Given the description of an element on the screen output the (x, y) to click on. 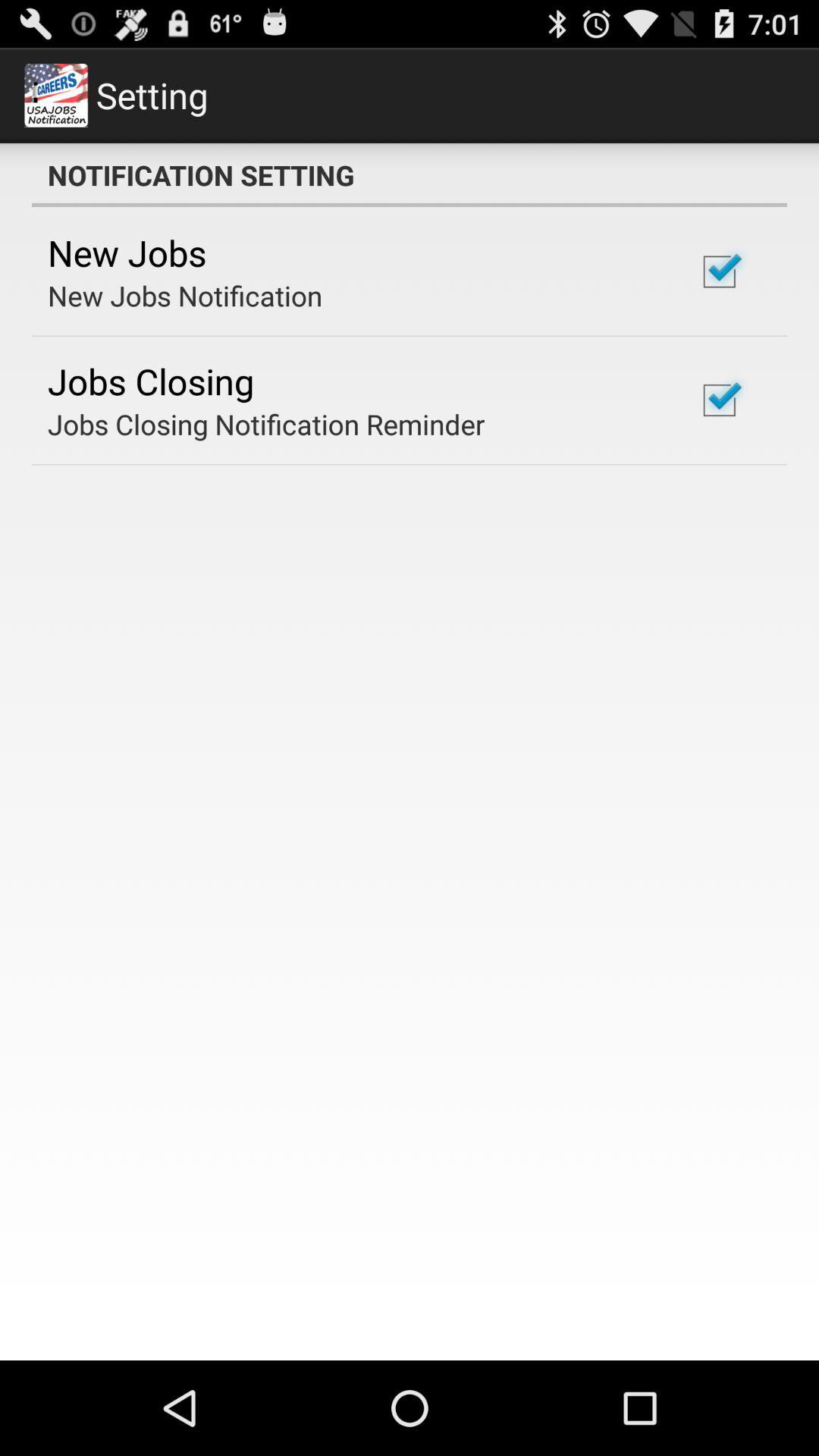
turn on item at the top (409, 175)
